Given the description of an element on the screen output the (x, y) to click on. 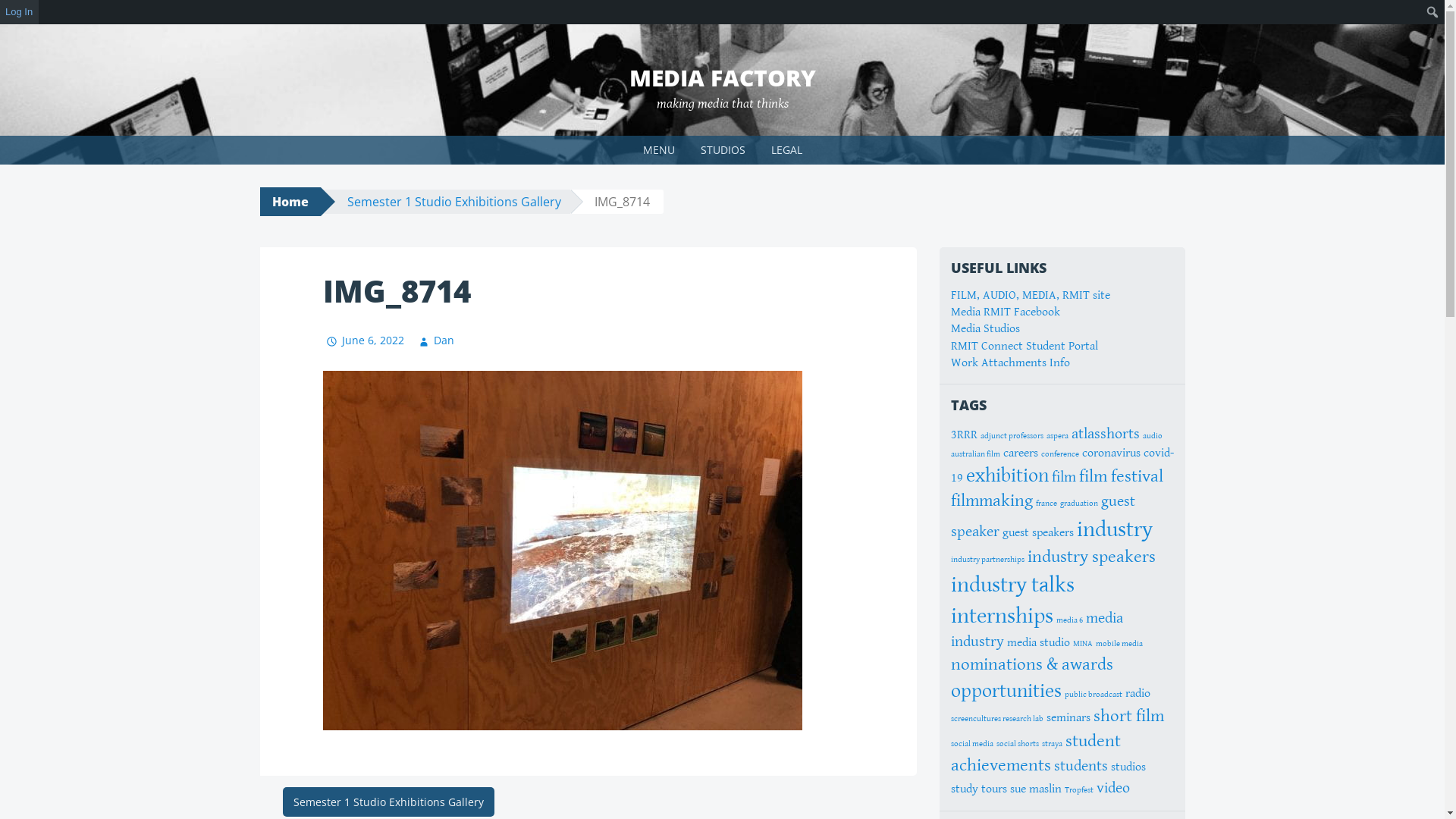
screencultures research lab Element type: text (996, 718)
students Element type: text (1080, 766)
industry Element type: text (1114, 529)
student achievements Element type: text (1035, 753)
public broadcast Element type: text (1093, 694)
guest speaker Element type: text (1042, 515)
adjunct professors Element type: text (1010, 435)
Media RMIT Facebook Element type: text (1005, 311)
filmmaking Element type: text (991, 500)
seminars Element type: text (1068, 717)
careers Element type: text (1019, 452)
Tropfest Element type: text (1078, 789)
Search Element type: text (31, 14)
australian film Element type: text (975, 453)
social media Element type: text (971, 743)
June 6, 2022 Element type: text (363, 339)
industry speakers Element type: text (1090, 556)
STUDIOS Element type: text (722, 149)
mobile media Element type: text (1118, 643)
sue maslin Element type: text (1035, 788)
media studio Element type: text (1038, 642)
social shorts Element type: text (1017, 743)
media 6 Element type: text (1068, 619)
LEGAL Element type: text (786, 149)
FILM, AUDIO, MEDIA, RMIT site Element type: text (1030, 295)
MEDIA FACTORY Element type: text (722, 77)
coronavirus Element type: text (1110, 452)
Semester 1 Studio Exhibitions Gallery Element type: text (387, 801)
video Element type: text (1112, 788)
short film Element type: text (1128, 716)
aspera Element type: text (1057, 435)
Log In Element type: text (19, 12)
conference Element type: text (1059, 453)
exhibition Element type: text (1007, 475)
film festival Element type: text (1120, 476)
covid-19 Element type: text (1061, 465)
france Element type: text (1046, 503)
opportunities Element type: text (1005, 691)
Semester 1 Studio Exhibitions Gallery Element type: text (454, 201)
Dan Element type: text (434, 339)
studios Element type: text (1127, 766)
Search Element type: text (15, 12)
audio Element type: text (1151, 435)
atlasshorts Element type: text (1104, 433)
Home Element type: text (289, 201)
film Element type: text (1063, 477)
Media Studios Element type: text (984, 328)
MINA Element type: text (1082, 643)
RMIT Connect Student Portal Element type: text (1024, 345)
internships Element type: text (1001, 615)
Work Attachments Info Element type: text (1010, 362)
media industry Element type: text (1036, 629)
nominations & awards Element type: text (1031, 664)
industry talks Element type: text (1012, 584)
study tours Element type: text (978, 788)
straya Element type: text (1051, 743)
3RRR Element type: text (963, 434)
guest speakers Element type: text (1037, 532)
MENU Element type: text (657, 149)
radio Element type: text (1137, 693)
graduation Element type: text (1079, 503)
industry partnerships Element type: text (987, 559)
